Given the description of an element on the screen output the (x, y) to click on. 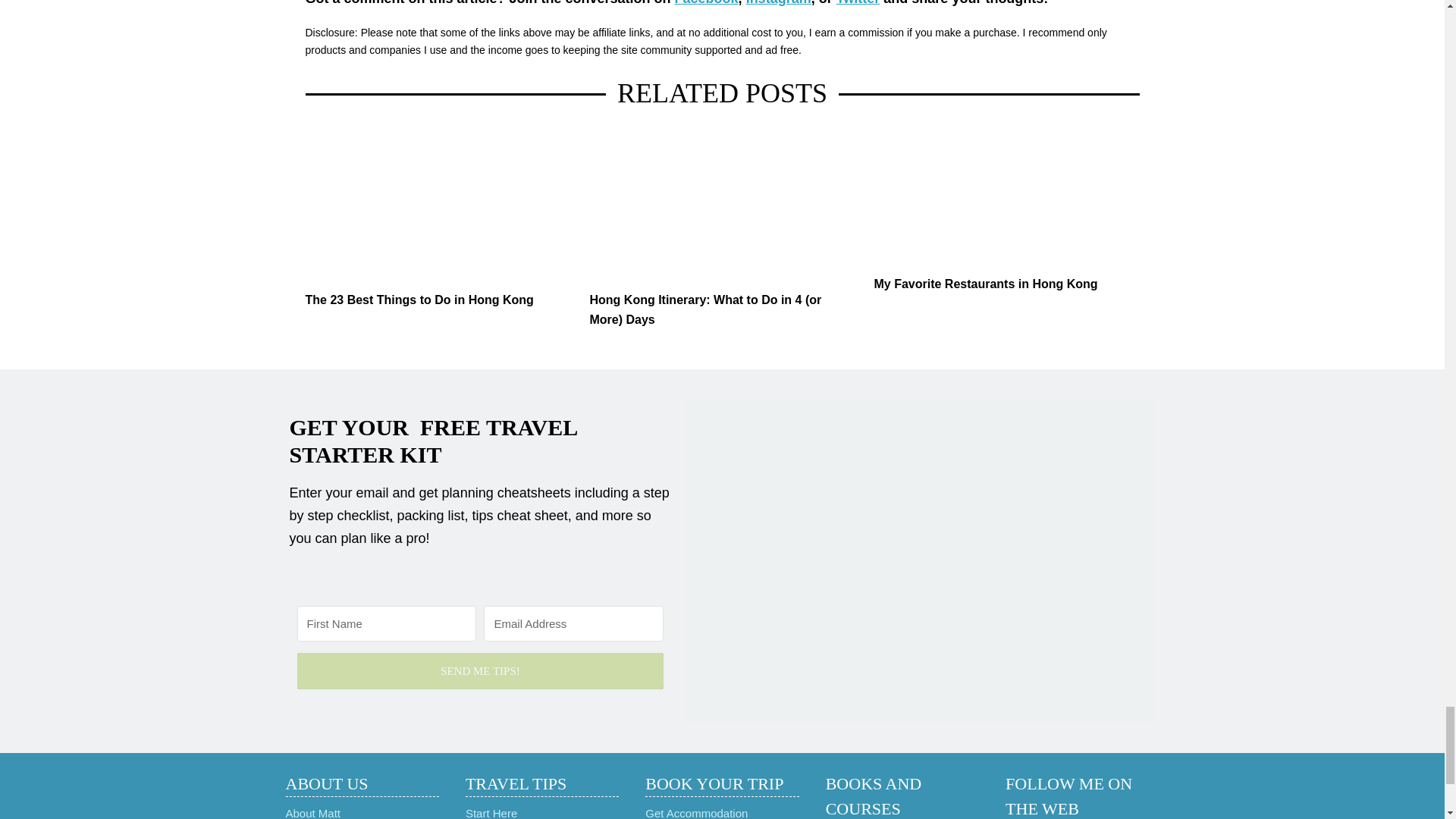
The 23 Best Things to Do in Hong Kong (437, 205)
The 23 Best Things to Do in Hong Kong (437, 300)
My Favorite Restaurants in Hong Kong (1005, 284)
My Favorite Restaurants in Hong Kong (1005, 197)
